Given the description of an element on the screen output the (x, y) to click on. 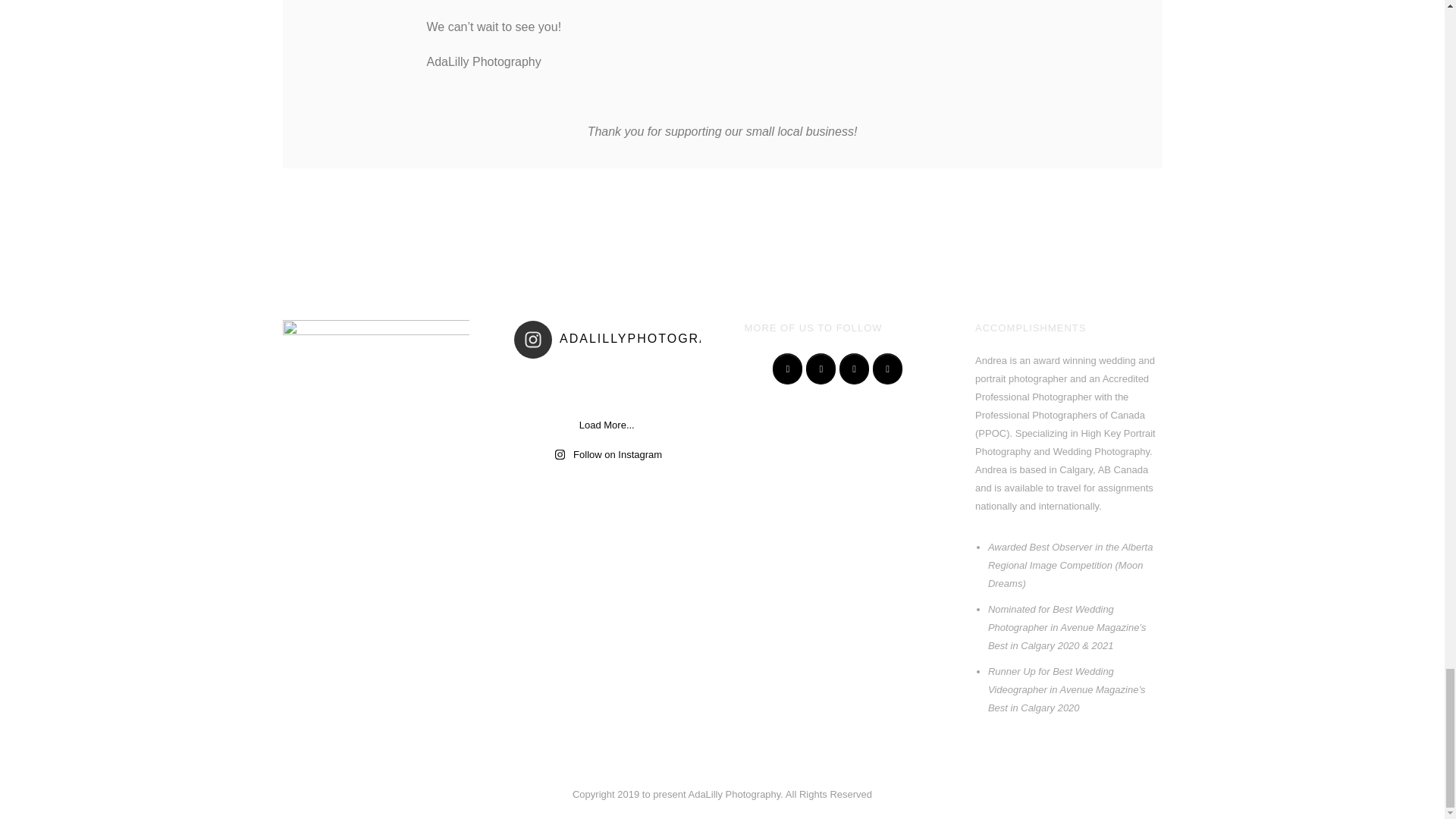
ADALILLYPHOTOGRAPHY (625, 339)
